Given the description of an element on the screen output the (x, y) to click on. 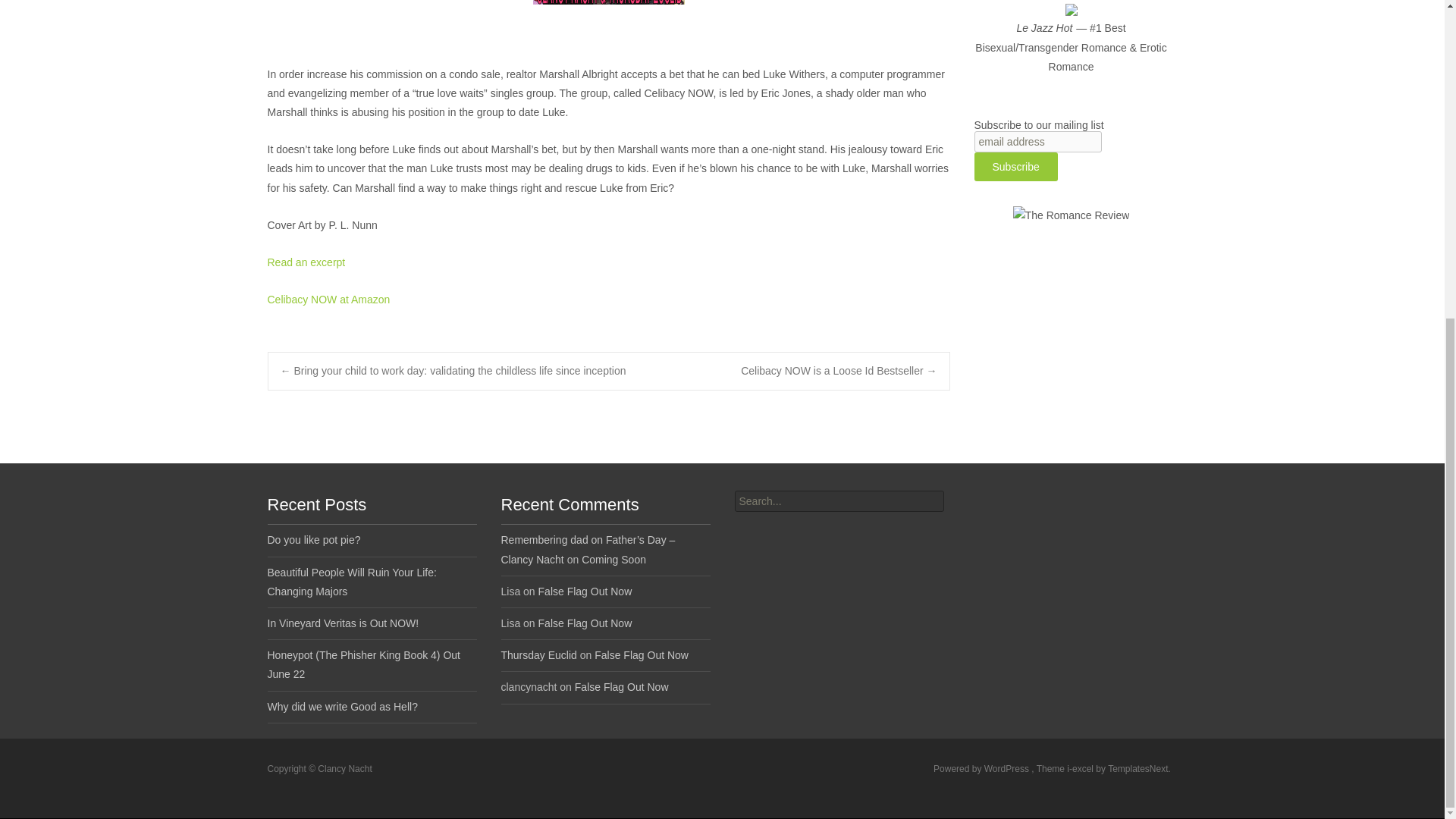
Celibacy NOW cover image (608, 2)
Subscribe (1015, 166)
Celibacy NOW (305, 262)
Celibacy NOW at Amazon (328, 299)
Search for: (838, 500)
Read an excerpt (305, 262)
